Given the description of an element on the screen output the (x, y) to click on. 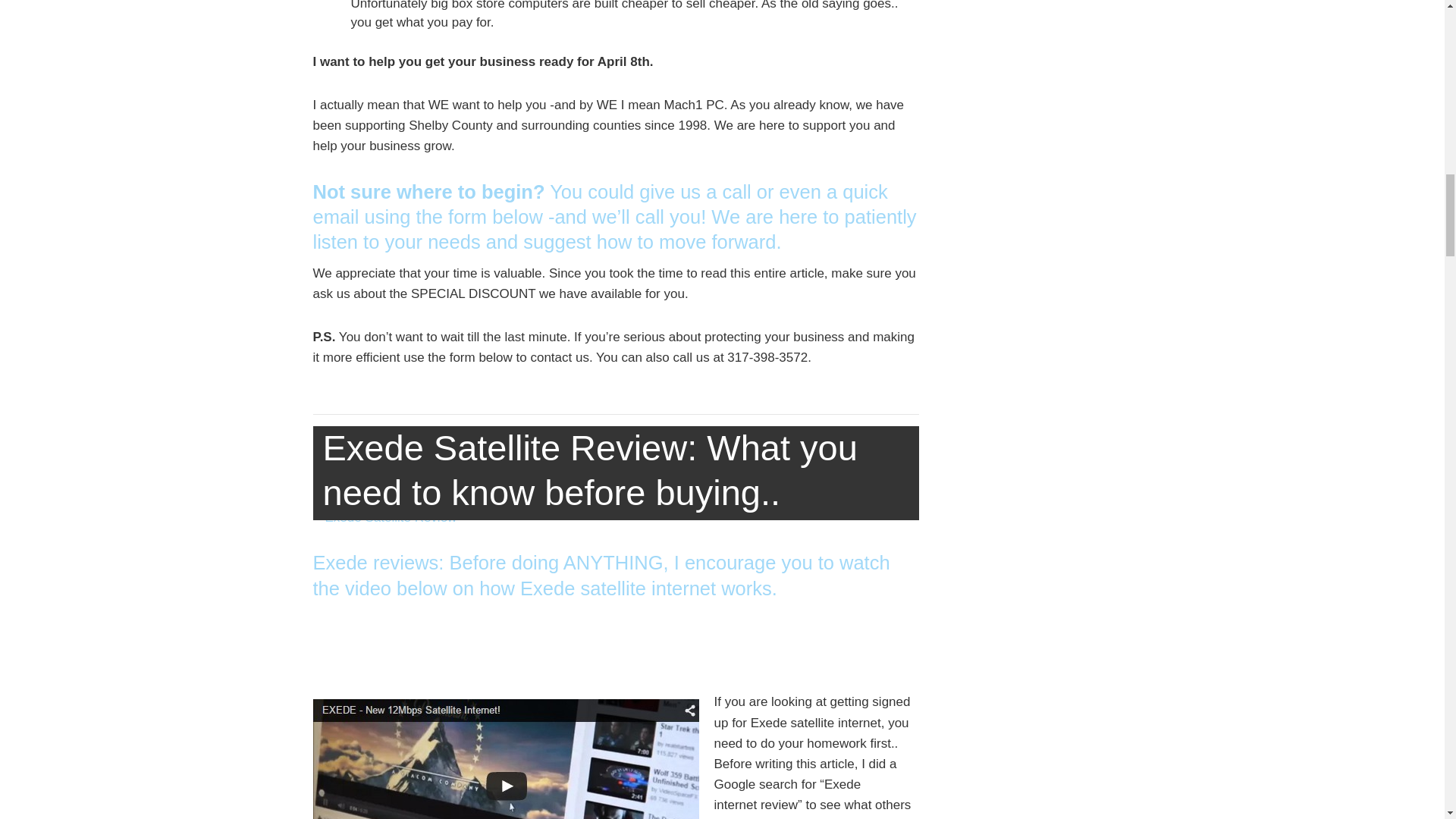
Vinny Polston (375, 431)
Exede Satellite Review (615, 516)
Small Business Support (849, 431)
